Given the description of an element on the screen output the (x, y) to click on. 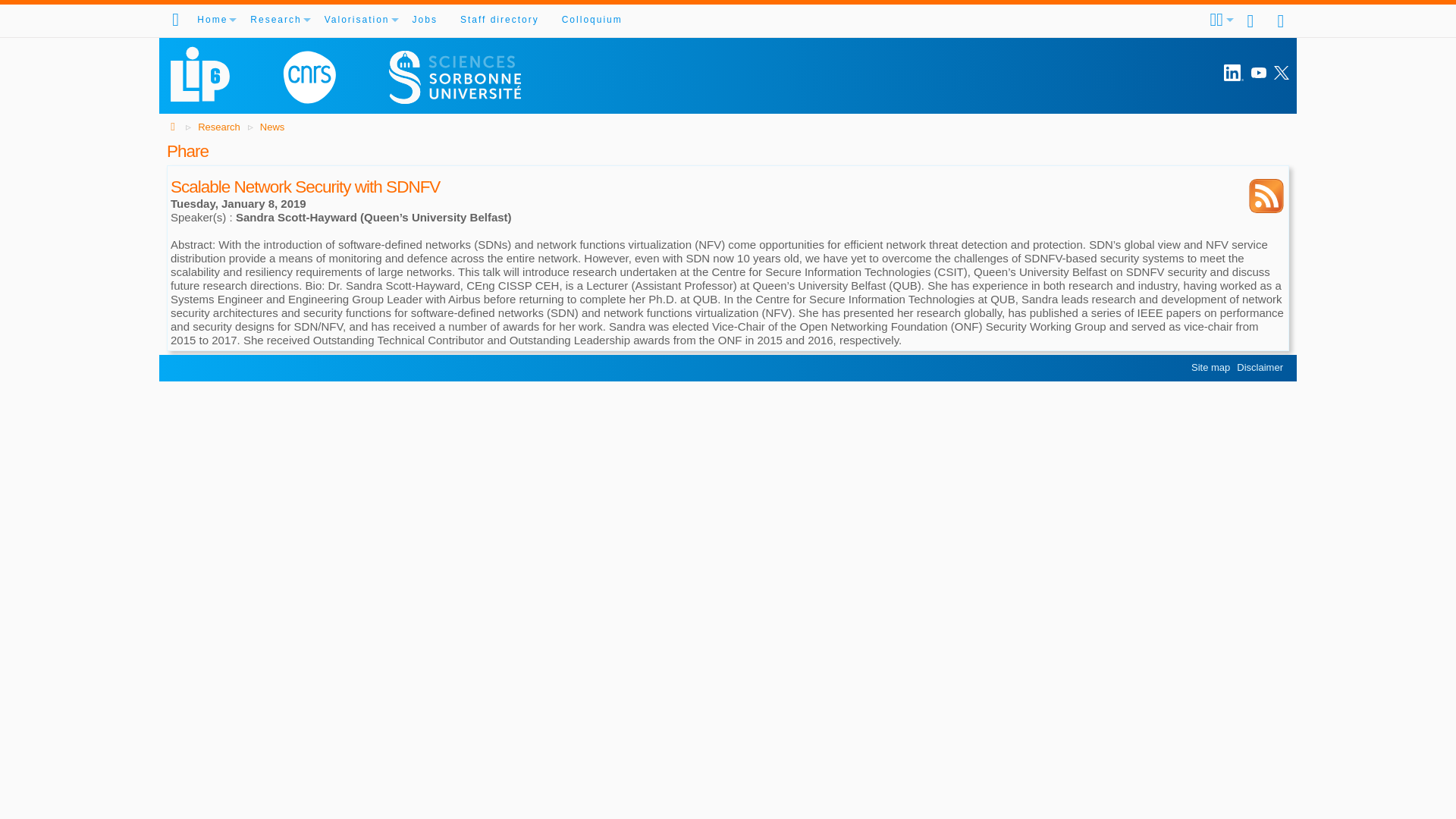
Staff directory (499, 19)
Colloquium (591, 19)
Home (212, 19)
Intranet (1281, 20)
WebMail (1251, 20)
Jobs (424, 19)
YouTube (1258, 72)
LinkedIn (1233, 74)
Follow on X (1281, 72)
